Given the description of an element on the screen output the (x, y) to click on. 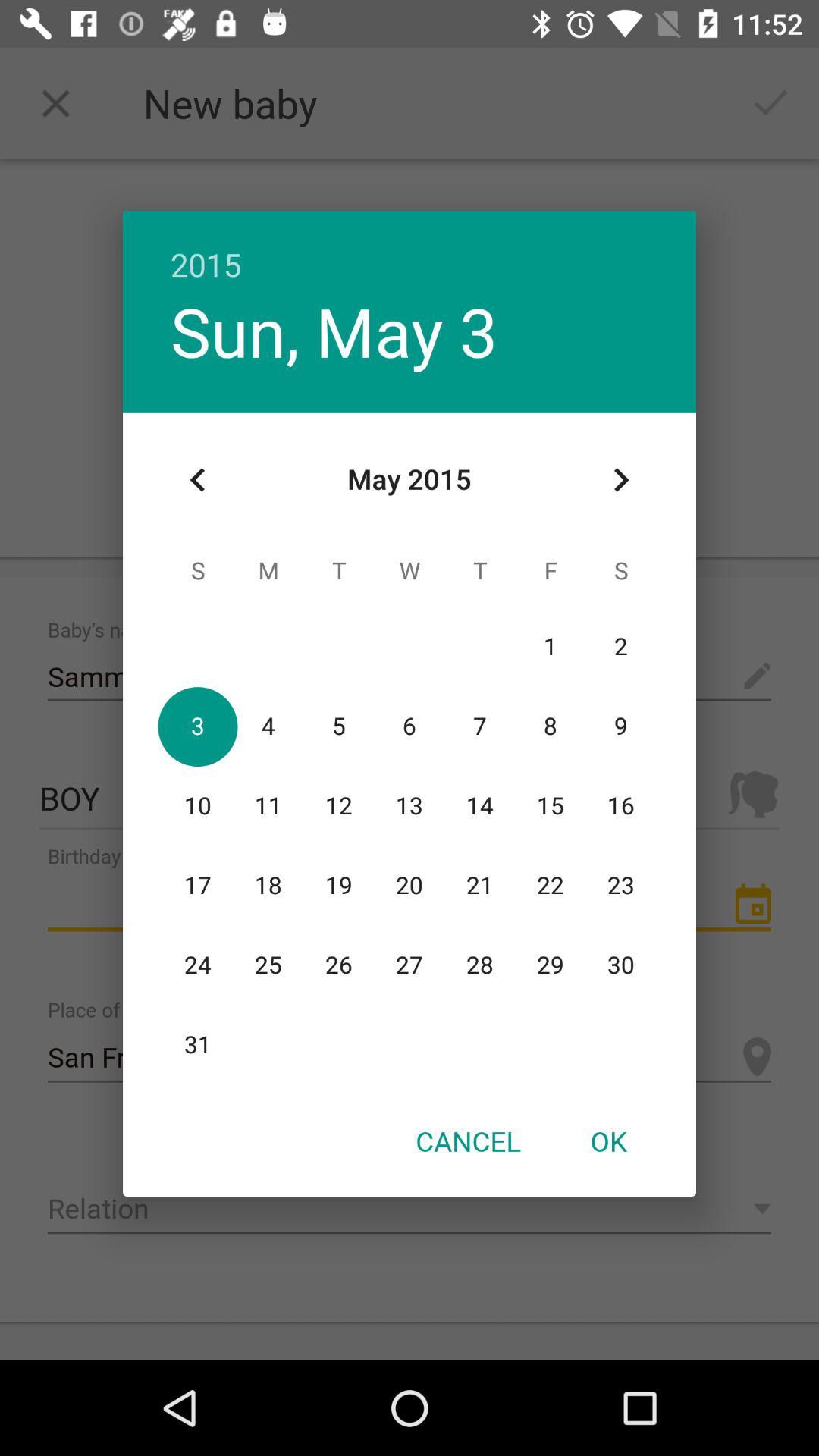
turn off icon at the top left corner (197, 479)
